Given the description of an element on the screen output the (x, y) to click on. 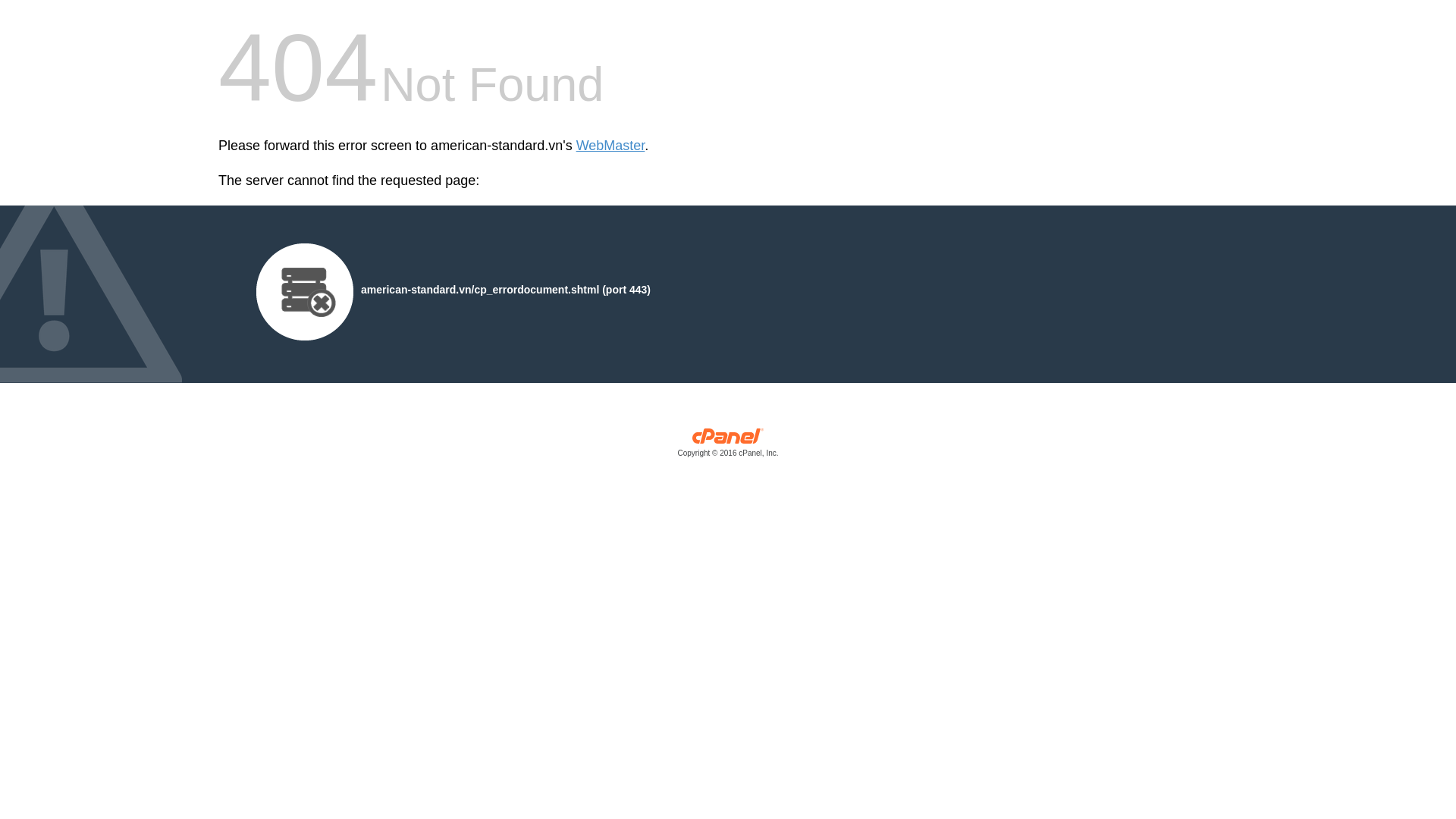
cPanel, Inc. (727, 446)
WebMaster (610, 145)
